Given the description of an element on the screen output the (x, y) to click on. 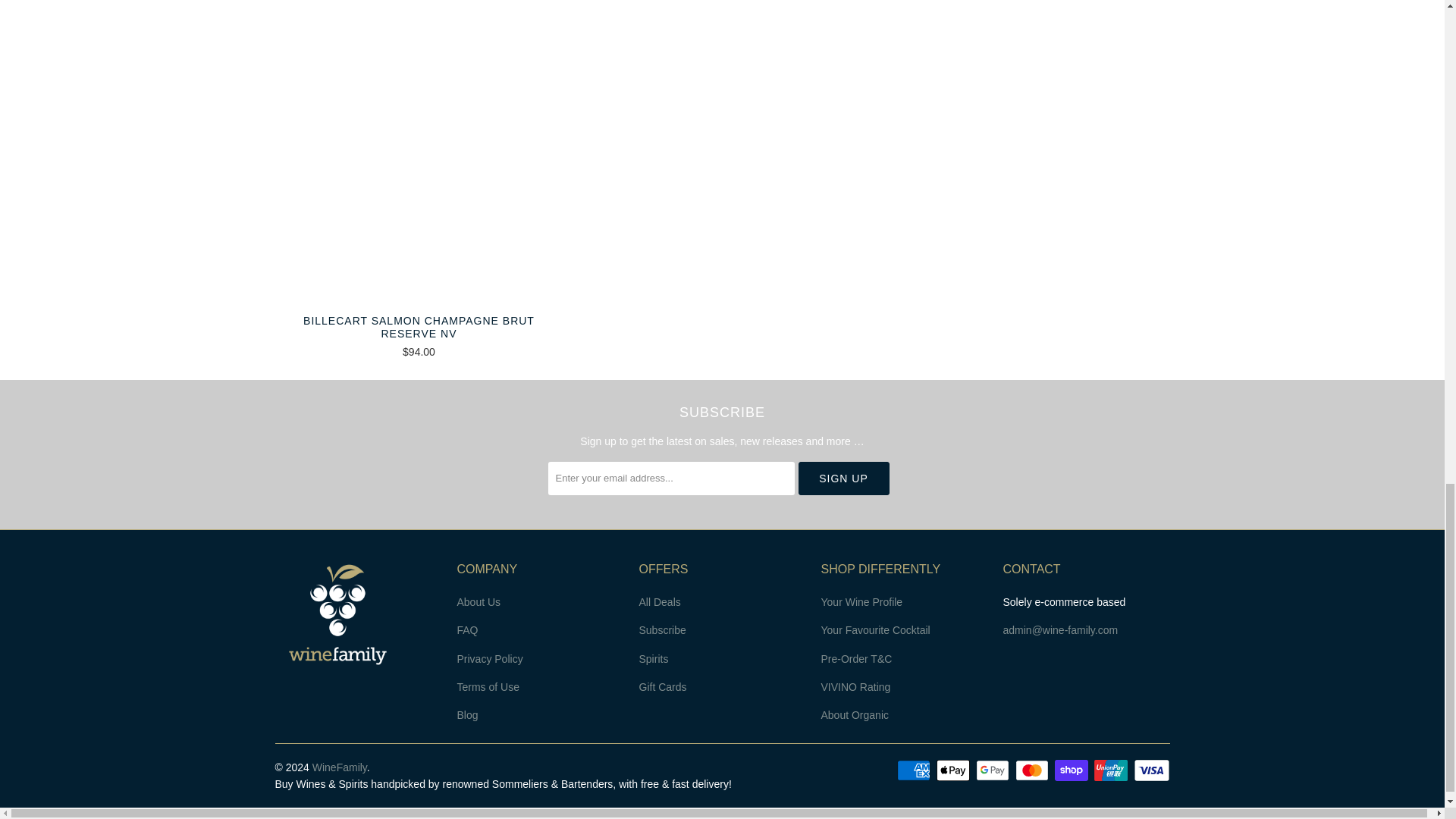
Mastercard (1032, 770)
Google Pay (993, 770)
Shop Pay (1072, 770)
Visa (1150, 770)
Union Pay (1112, 770)
Apple Pay (954, 770)
American Express (914, 770)
Sign Up (842, 478)
